Given the description of an element on the screen output the (x, y) to click on. 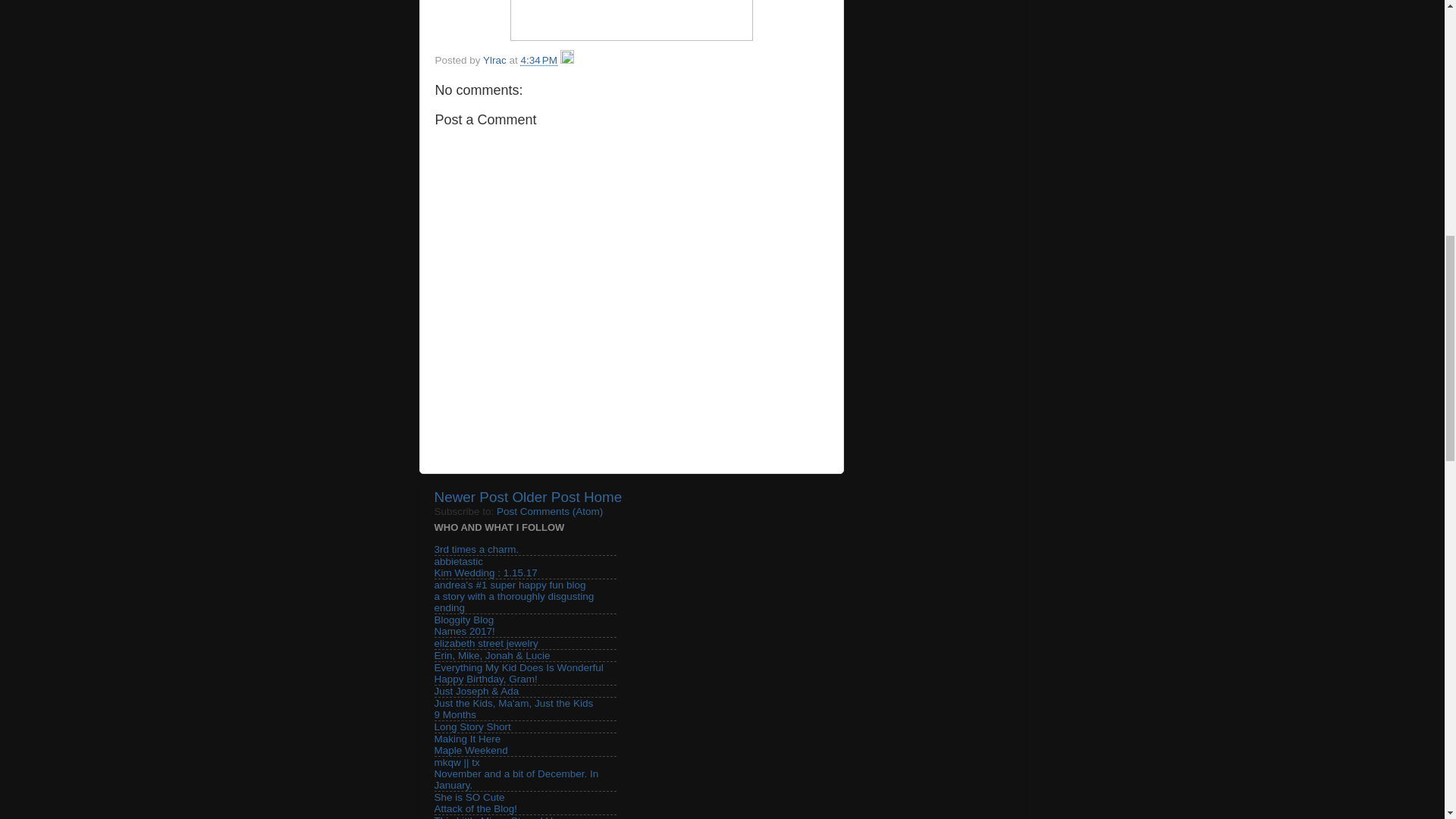
Newer Post (470, 496)
Maple Weekend (469, 749)
November and a bit of December. In January. (515, 779)
Names 2017! (464, 631)
Older Post (545, 496)
Ylrac (496, 60)
Home (602, 496)
Edit Post (566, 60)
3rd times a charm. (475, 549)
9 Months (454, 714)
This Little Miggy Stayed Home (502, 816)
author profile (496, 60)
a story with a thoroughly disgusting ending (513, 601)
permanent link (539, 60)
Long Story Short (472, 726)
